Given the description of an element on the screen output the (x, y) to click on. 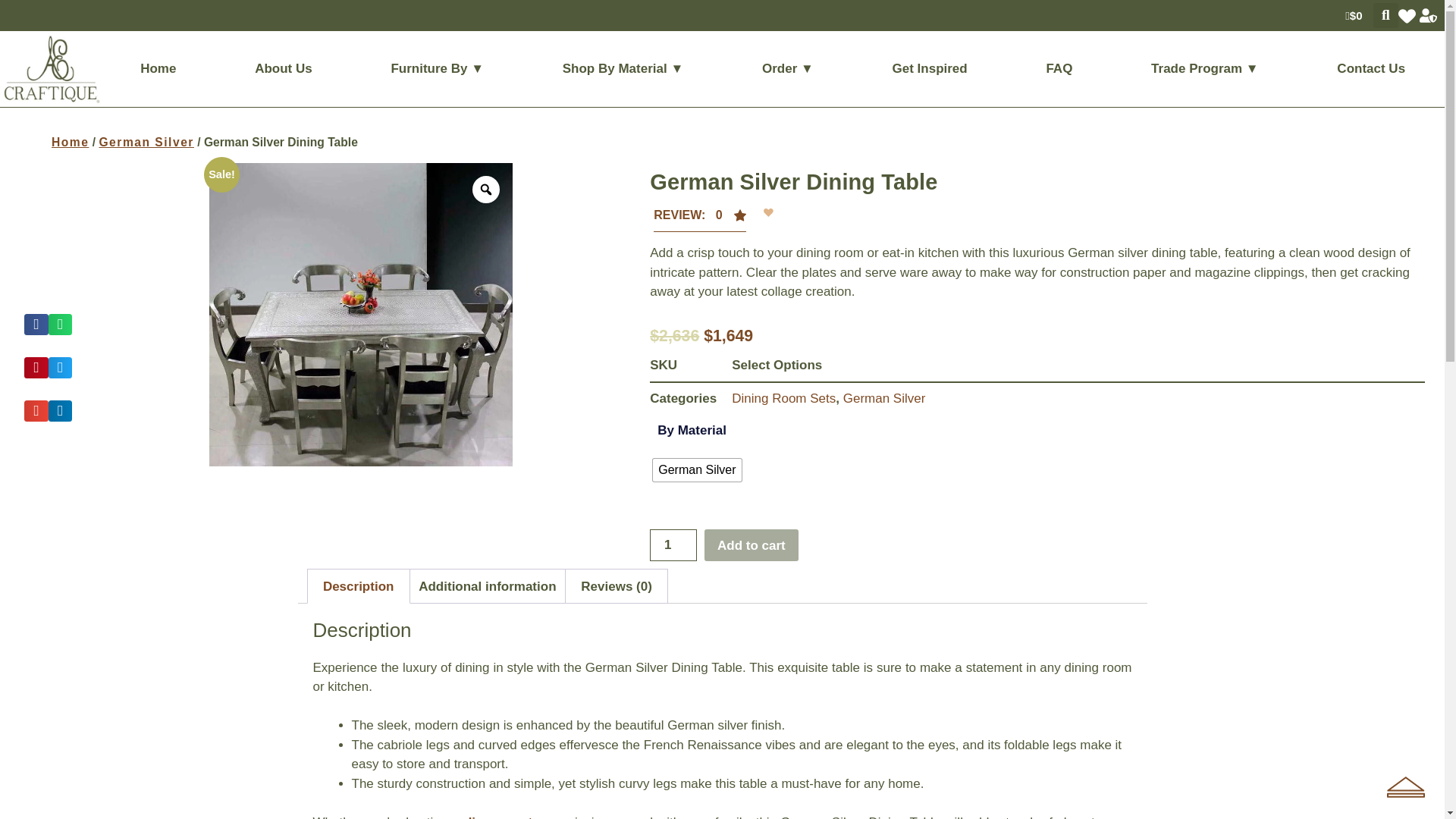
1 (673, 545)
About Us (282, 68)
Home (157, 68)
F-6102-WM (360, 314)
German Silver (696, 469)
